Given the description of an element on the screen output the (x, y) to click on. 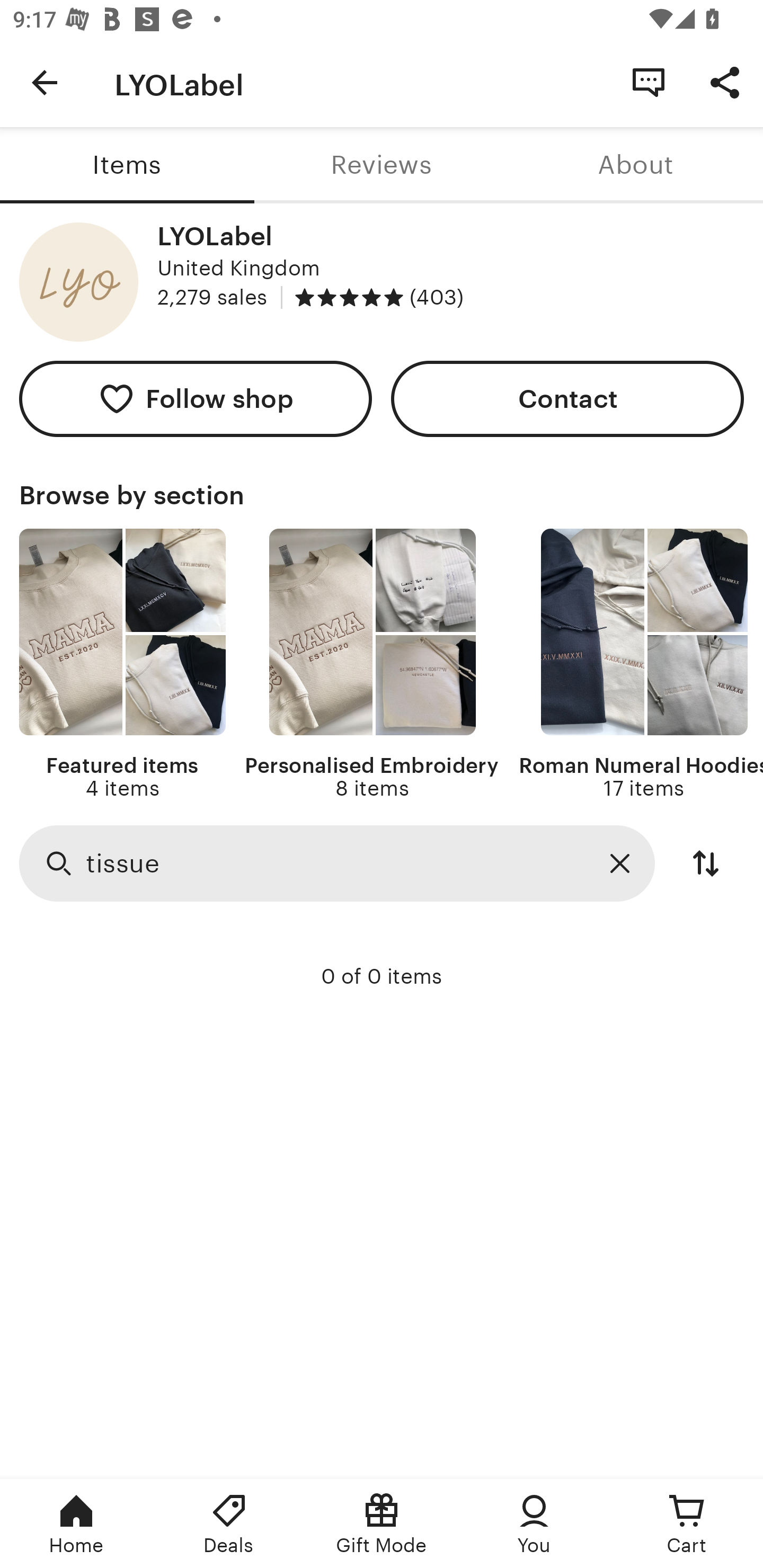
Navigate up (44, 82)
Contact Shop (648, 81)
Share (724, 81)
Reviews (381, 165)
About (635, 165)
Follow shop (195, 398)
Contact (566, 398)
Featured items 4 items (122, 663)
Personalised Embroidery 8 items (371, 663)
Roman Numeral Hoodies 17 items (640, 663)
tissue Search (336, 862)
Deals (228, 1523)
Gift Mode (381, 1523)
You (533, 1523)
Cart (686, 1523)
